Given the description of an element on the screen output the (x, y) to click on. 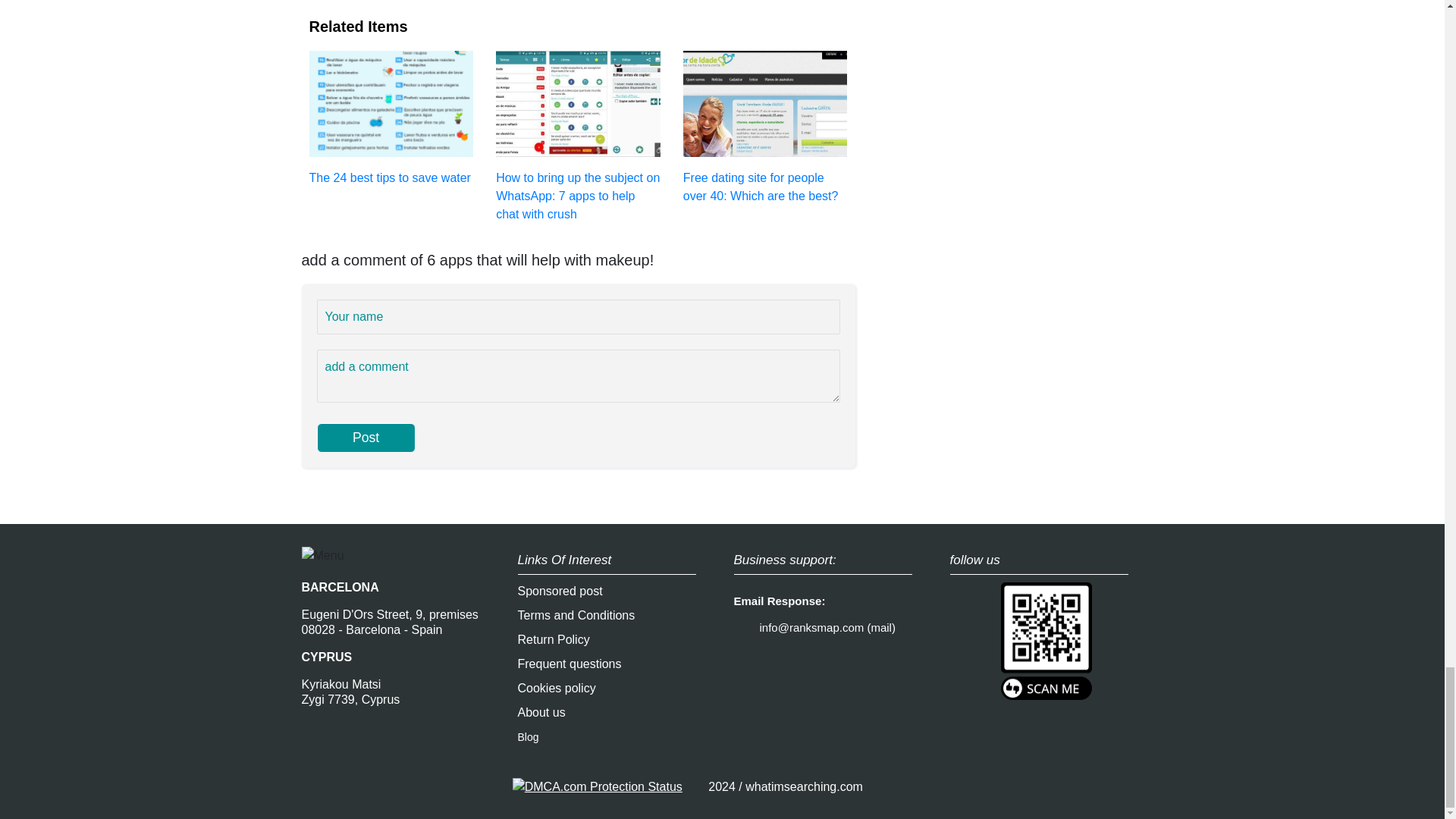
Free dating site for people over 40: Which are the best? (764, 126)
The 24 best tips to save water (391, 117)
The 24 best tips to save water (391, 117)
Post (365, 437)
Free dating site for people over 40: Which are the best? (764, 126)
